Given the description of an element on the screen output the (x, y) to click on. 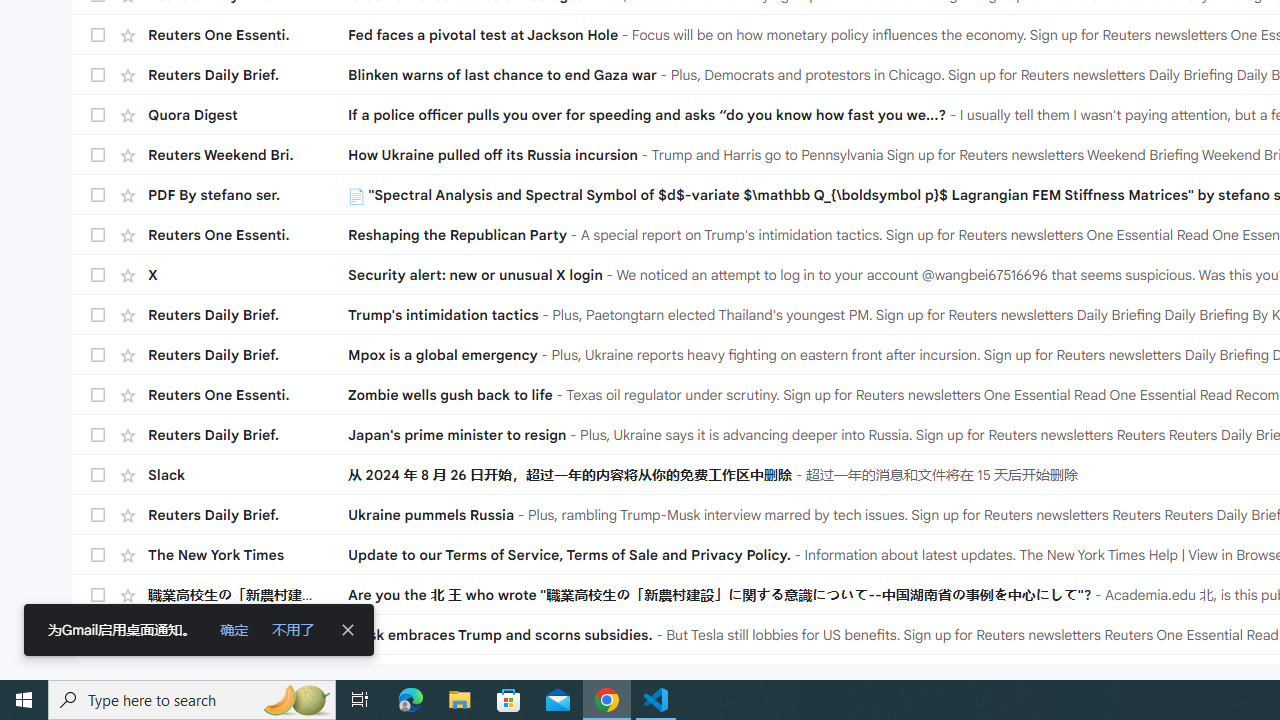
Reuters One Essenti. (248, 634)
The New York Times (248, 555)
Reuters Weekend Bri. (248, 154)
